Given the description of an element on the screen output the (x, y) to click on. 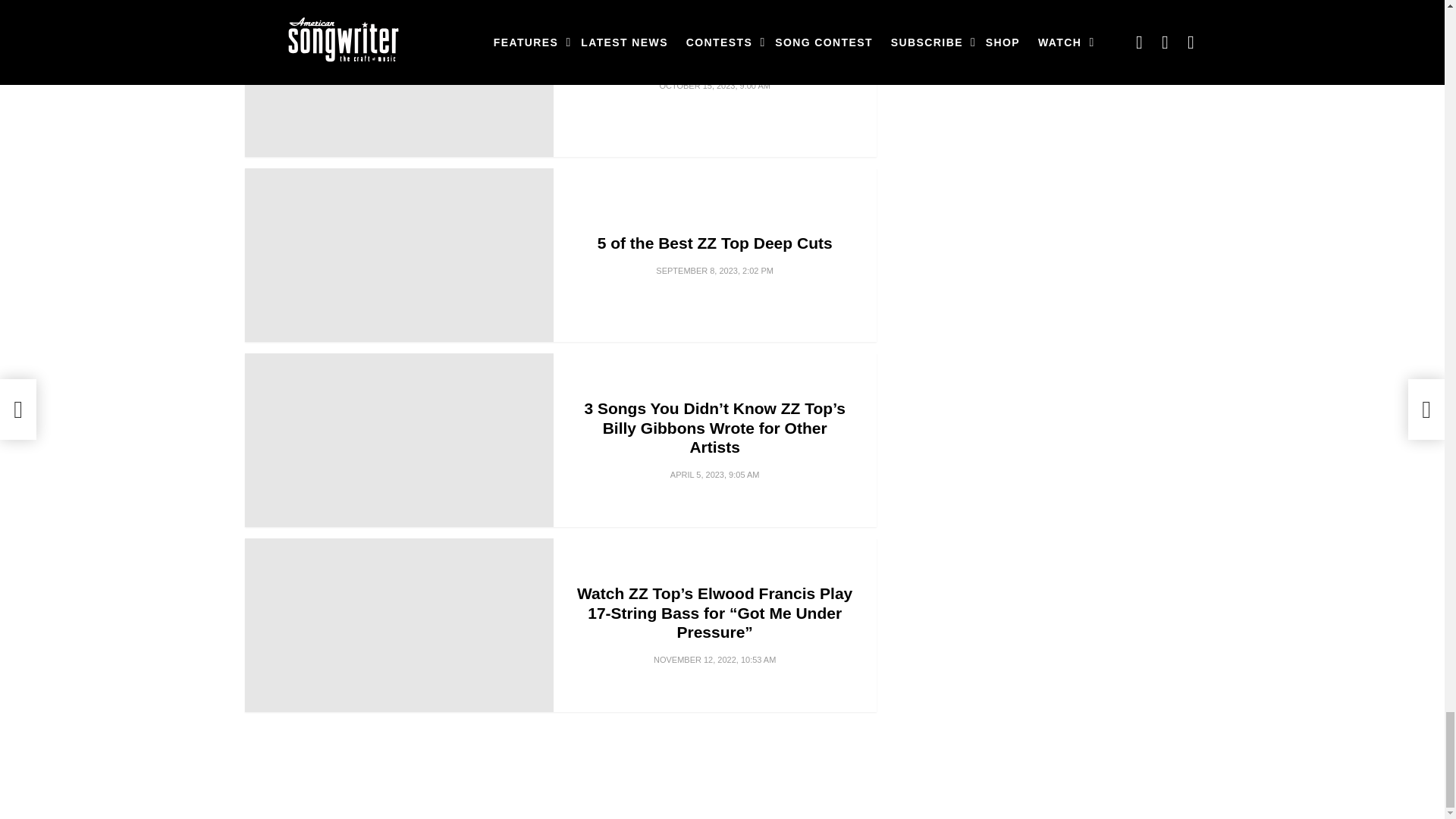
5 of the Best ZZ Top Deep Cuts (398, 255)
